Given the description of an element on the screen output the (x, y) to click on. 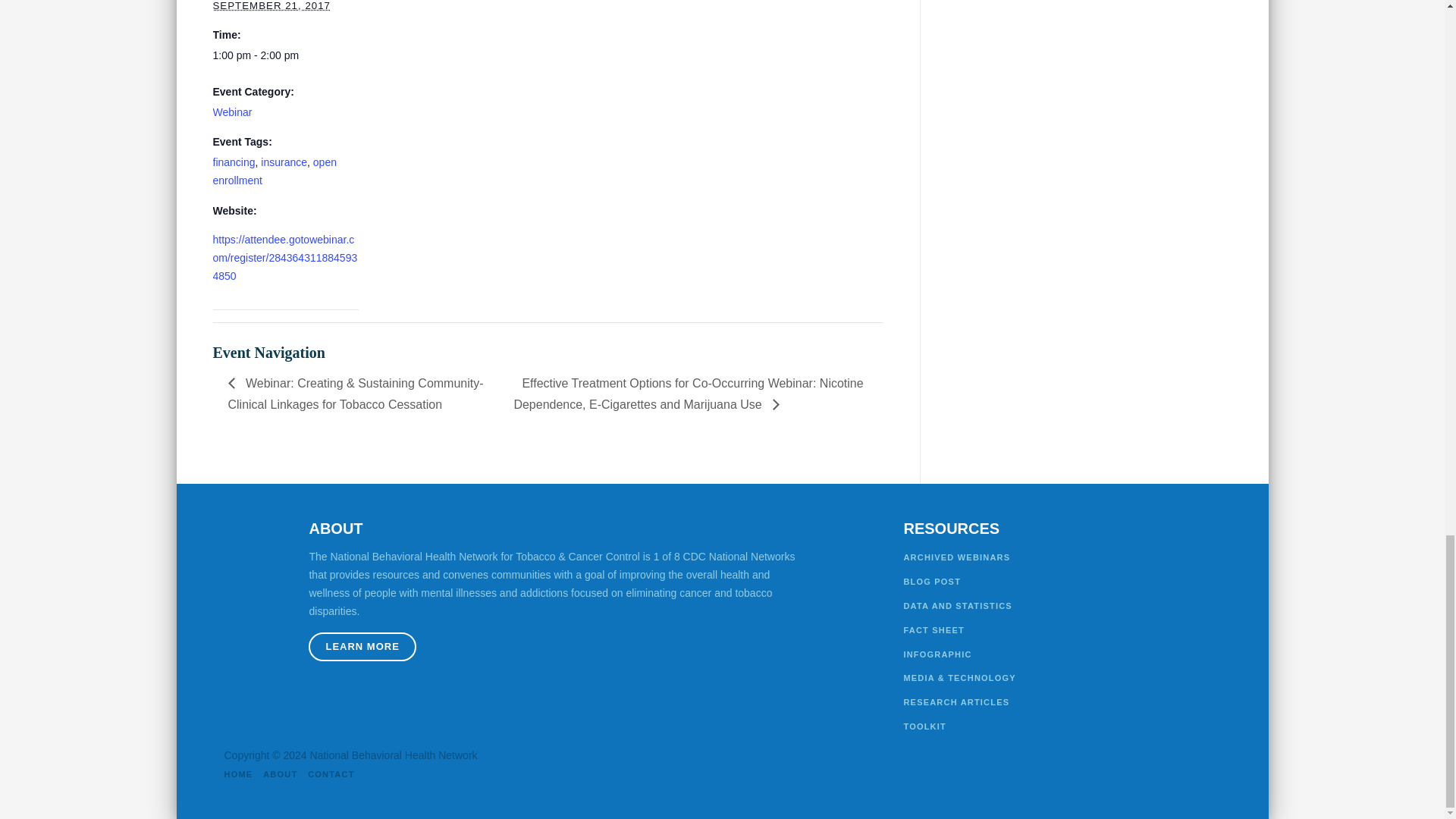
Webinar (231, 111)
open enrollment (274, 171)
2017-09-21 (271, 5)
2017-09-21 (285, 55)
financing (233, 162)
insurance (283, 162)
LEARN MORE (361, 646)
